Given the description of an element on the screen output the (x, y) to click on. 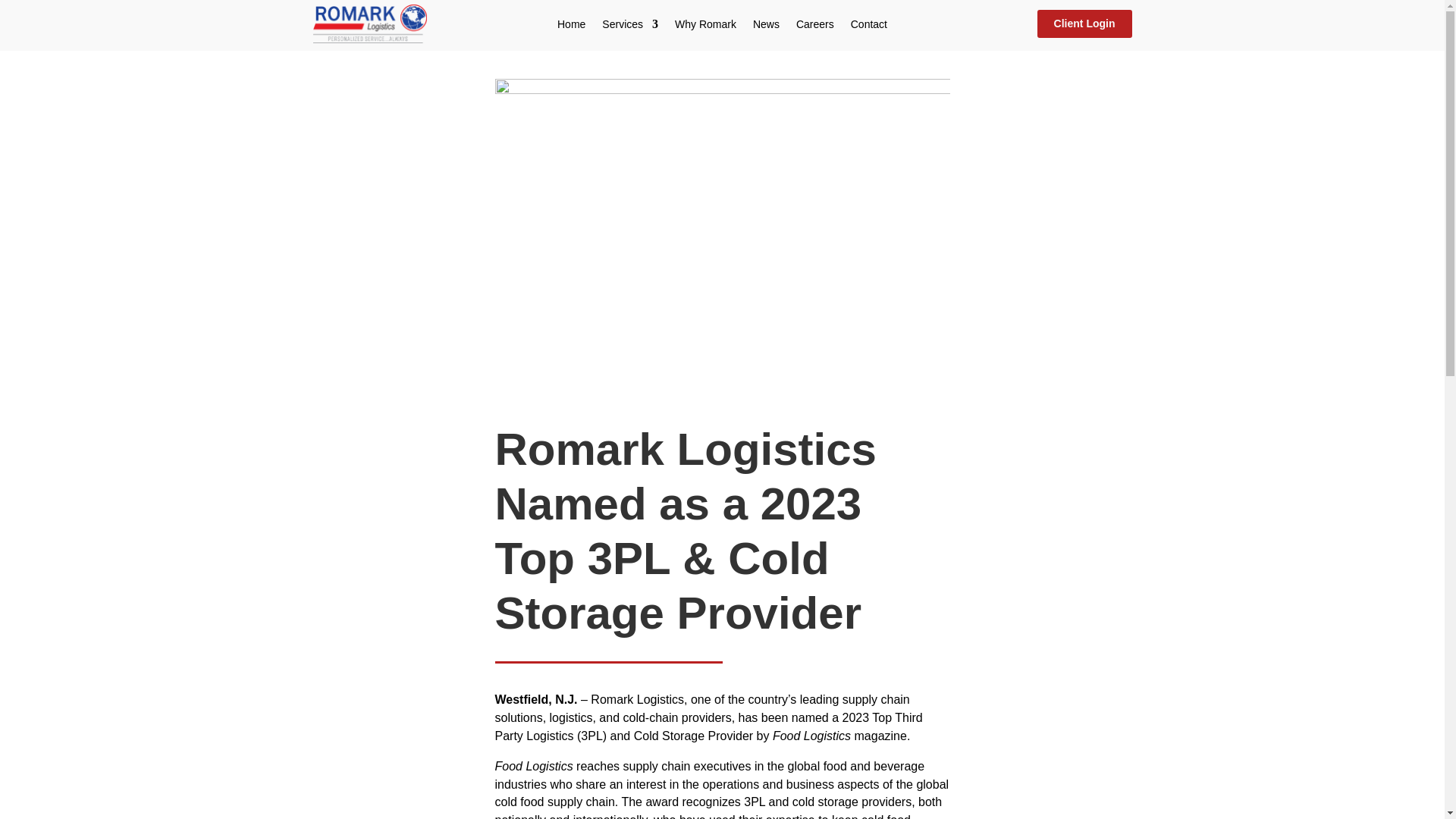
Services (630, 27)
Contact (868, 27)
Client Login (1084, 23)
News (765, 27)
Home (571, 27)
Why Romark (705, 27)
Careers (815, 27)
